Given the description of an element on the screen output the (x, y) to click on. 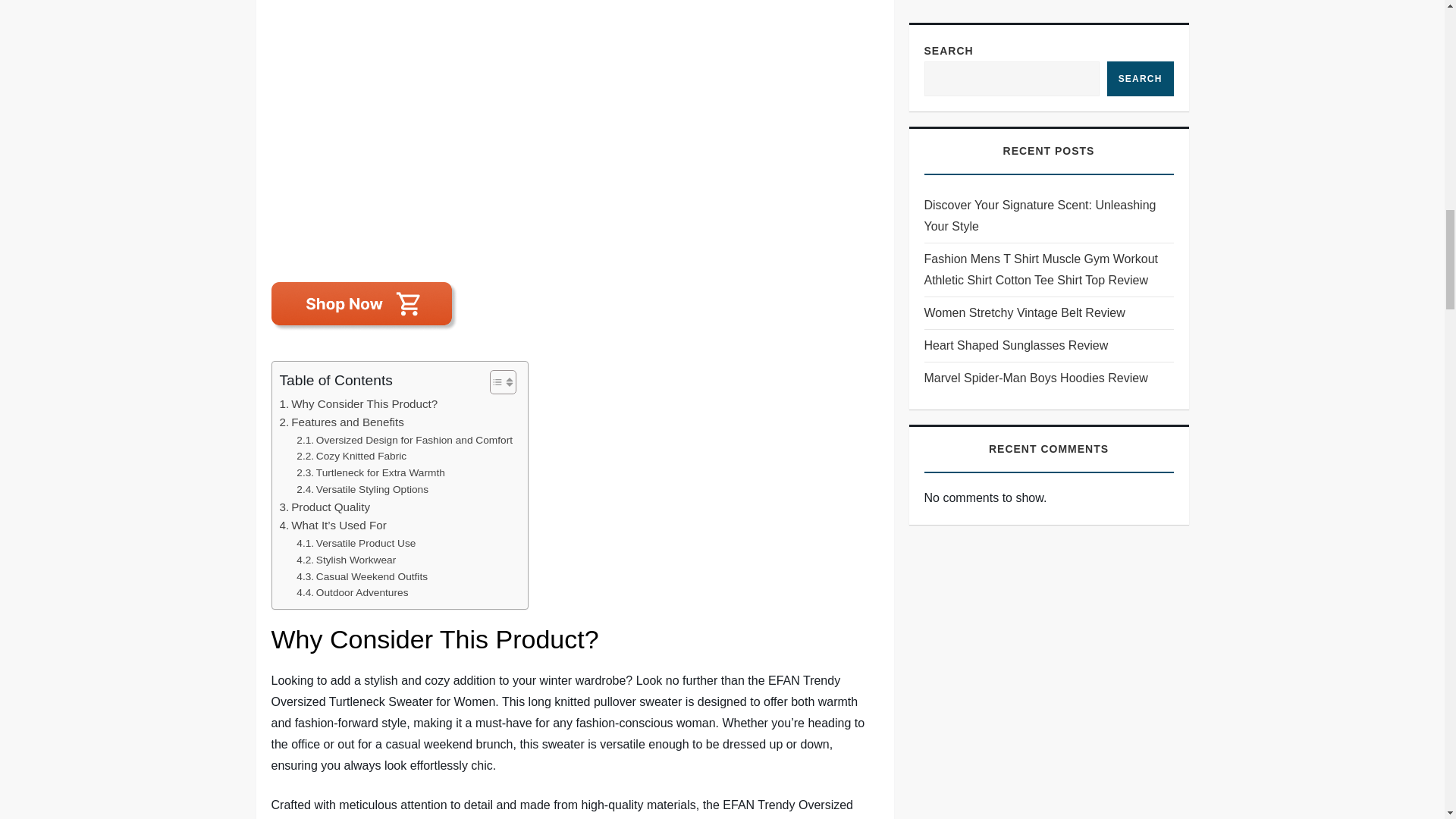
Product Quality (324, 506)
Why Consider This Product? (358, 403)
Casual Weekend Outfits (362, 576)
Why Consider This Product? (358, 403)
Turtleneck for Extra Warmth (371, 473)
Cozy Knitted Fabric (351, 456)
Stylish Workwear (346, 560)
Turtleneck for Extra Warmth (371, 473)
Product Quality (324, 506)
Versatile Product Use (355, 543)
Casual Weekend Outfits (362, 576)
Oversized Design for Fashion and Comfort (404, 440)
Outdoor Adventures (352, 592)
